Given the description of an element on the screen output the (x, y) to click on. 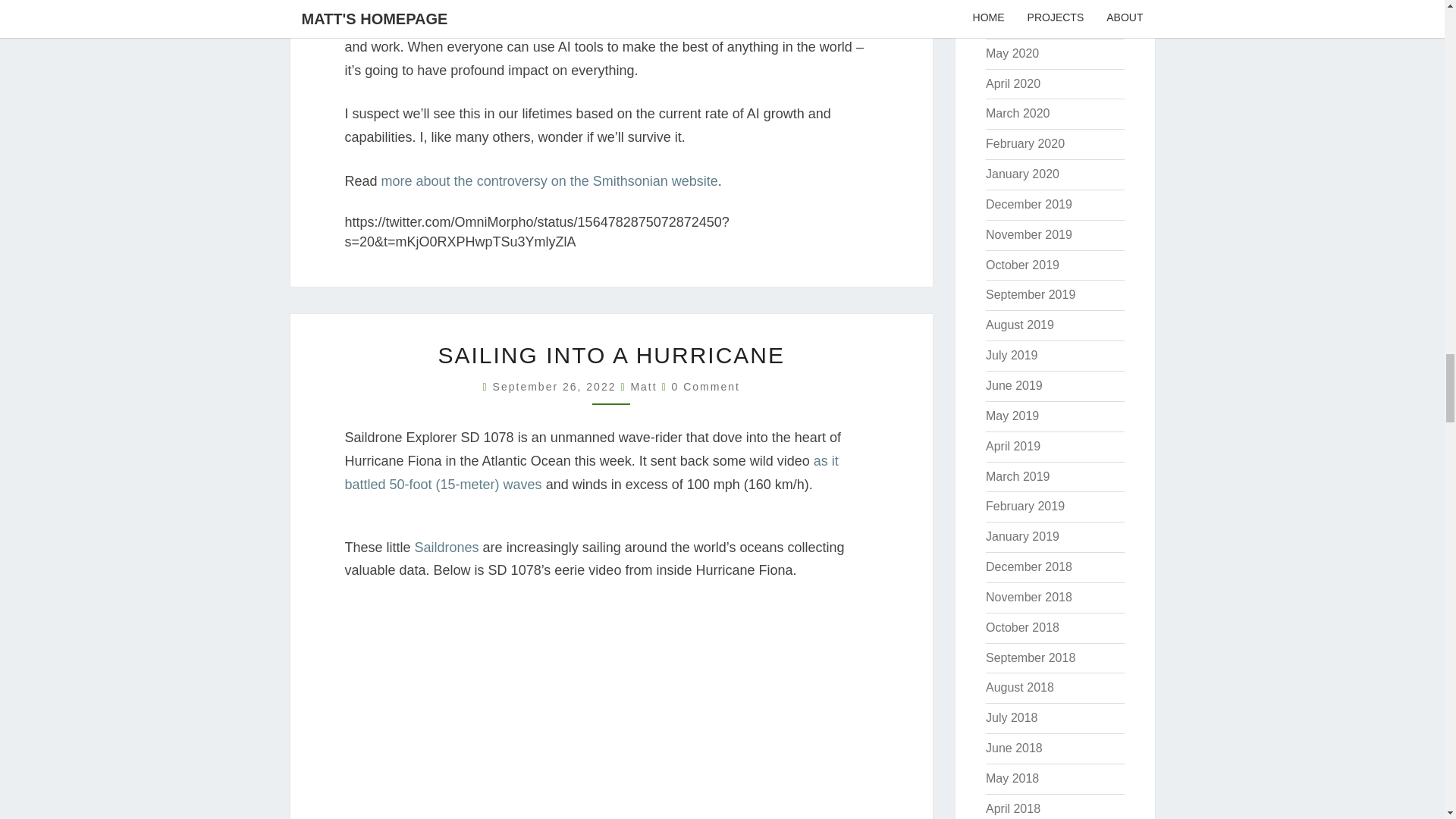
View all posts by matt (643, 386)
more about the controversy (464, 181)
7:26 pm (557, 386)
time and again (579, 23)
on the Smithsonian website (634, 181)
